Given the description of an element on the screen output the (x, y) to click on. 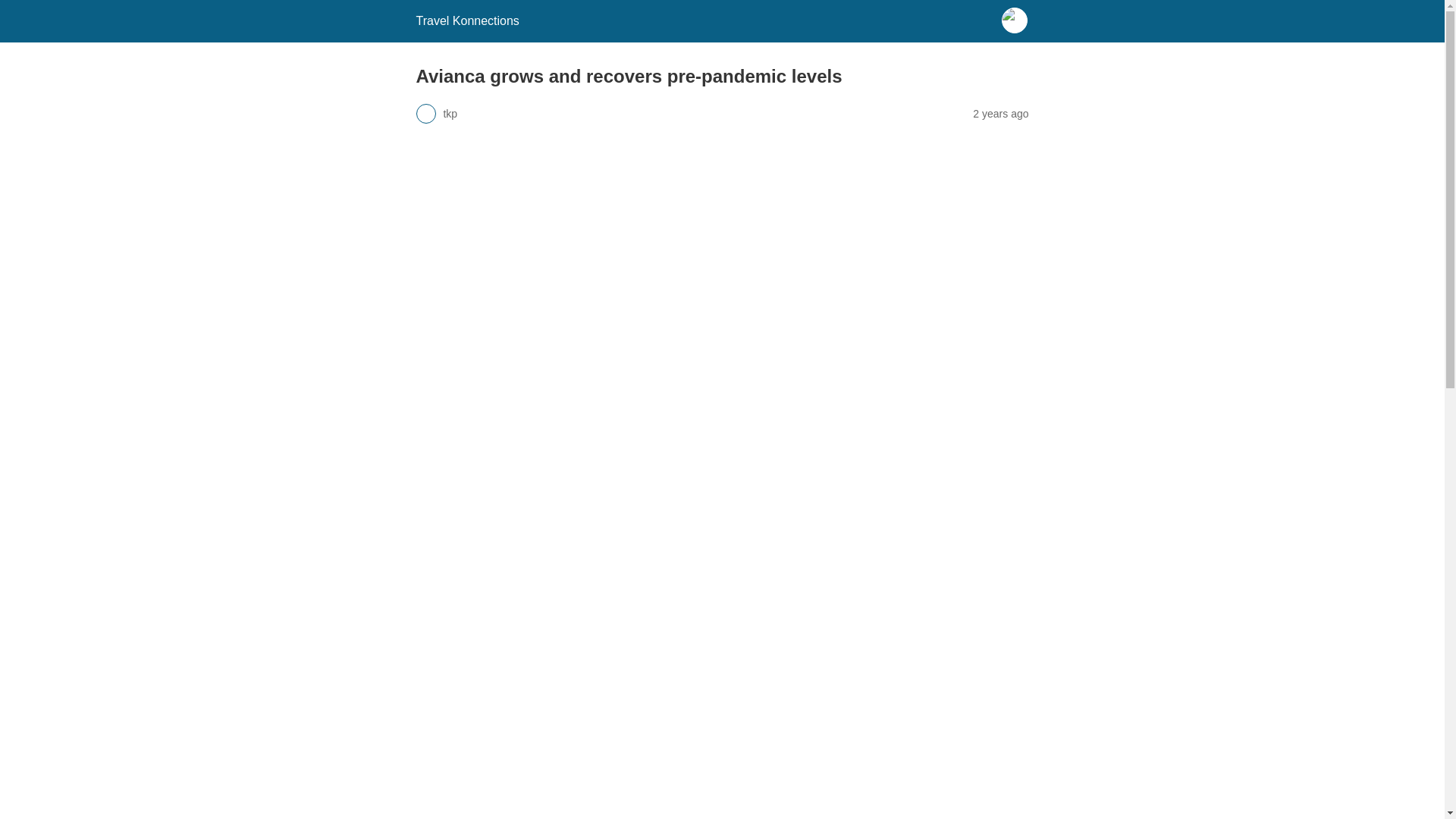
Travel Konnections (466, 20)
